Given the description of an element on the screen output the (x, y) to click on. 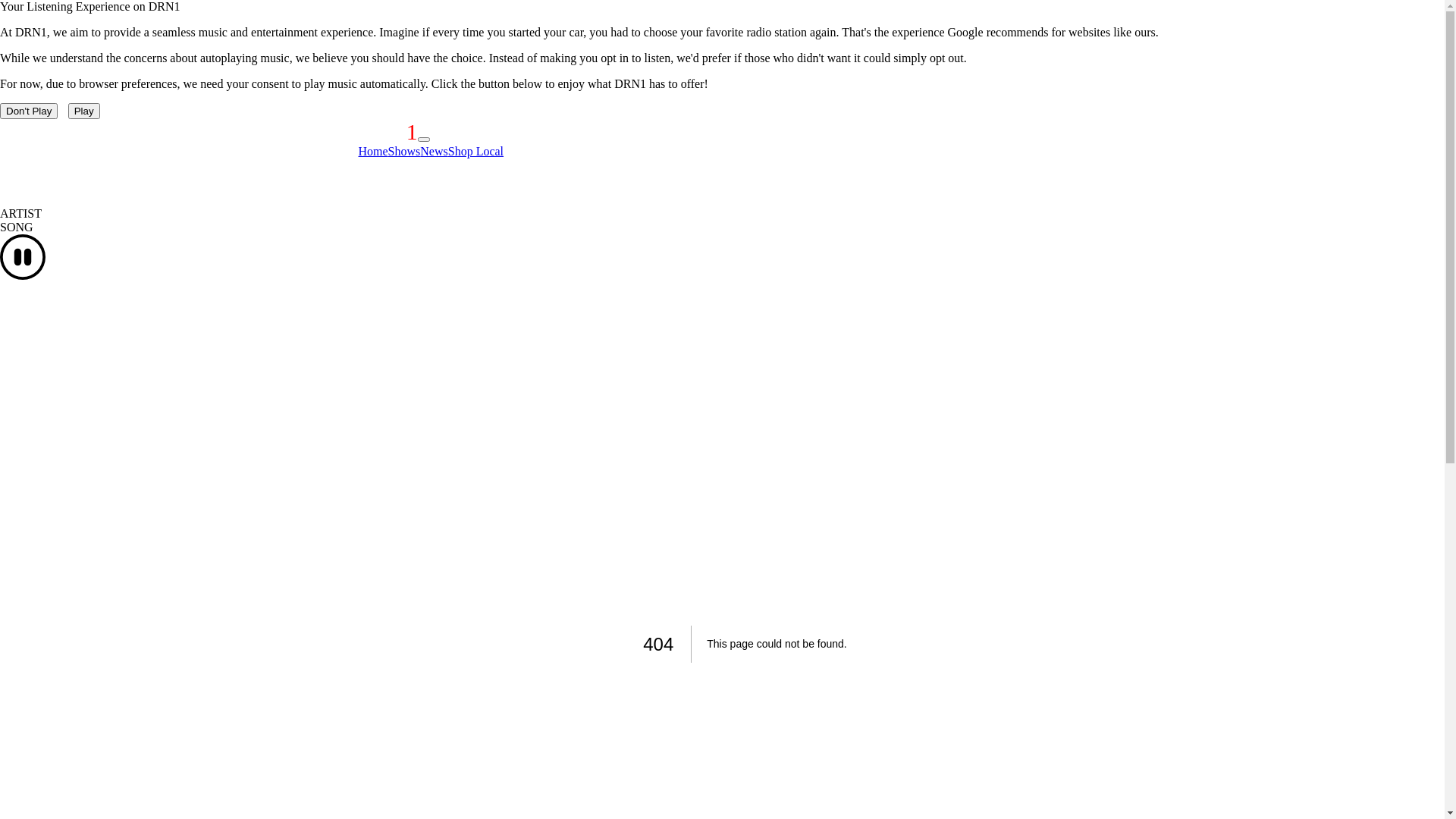
Play Element type: text (84, 111)
Shop Local Element type: text (475, 150)
Home Element type: text (372, 150)
Shows Element type: text (404, 150)
DRN1 Element type: text (387, 131)
Don't Play Element type: text (28, 111)
News Element type: text (433, 150)
